Given the description of an element on the screen output the (x, y) to click on. 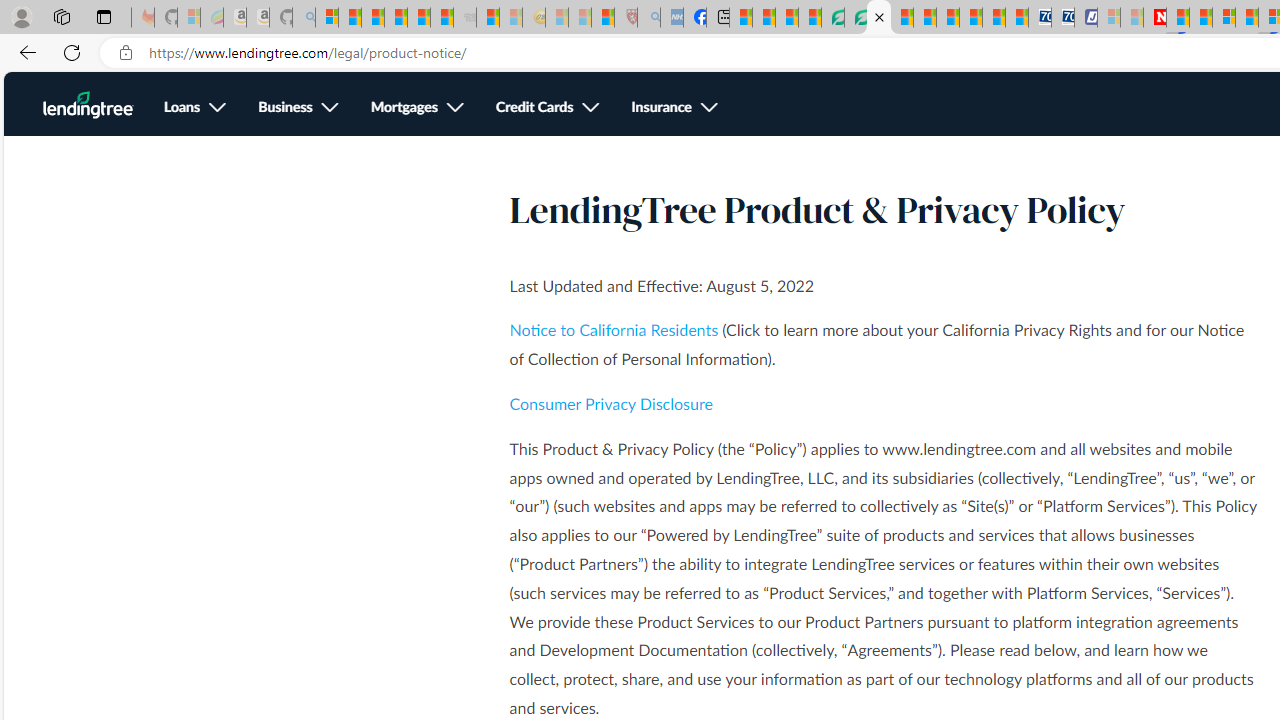
New Report Confirms 2023 Was Record Hot | Watch (419, 17)
Latest Politics News & Archive | Newsweek.com (1155, 17)
Local - MSN (602, 17)
